Given the description of an element on the screen output the (x, y) to click on. 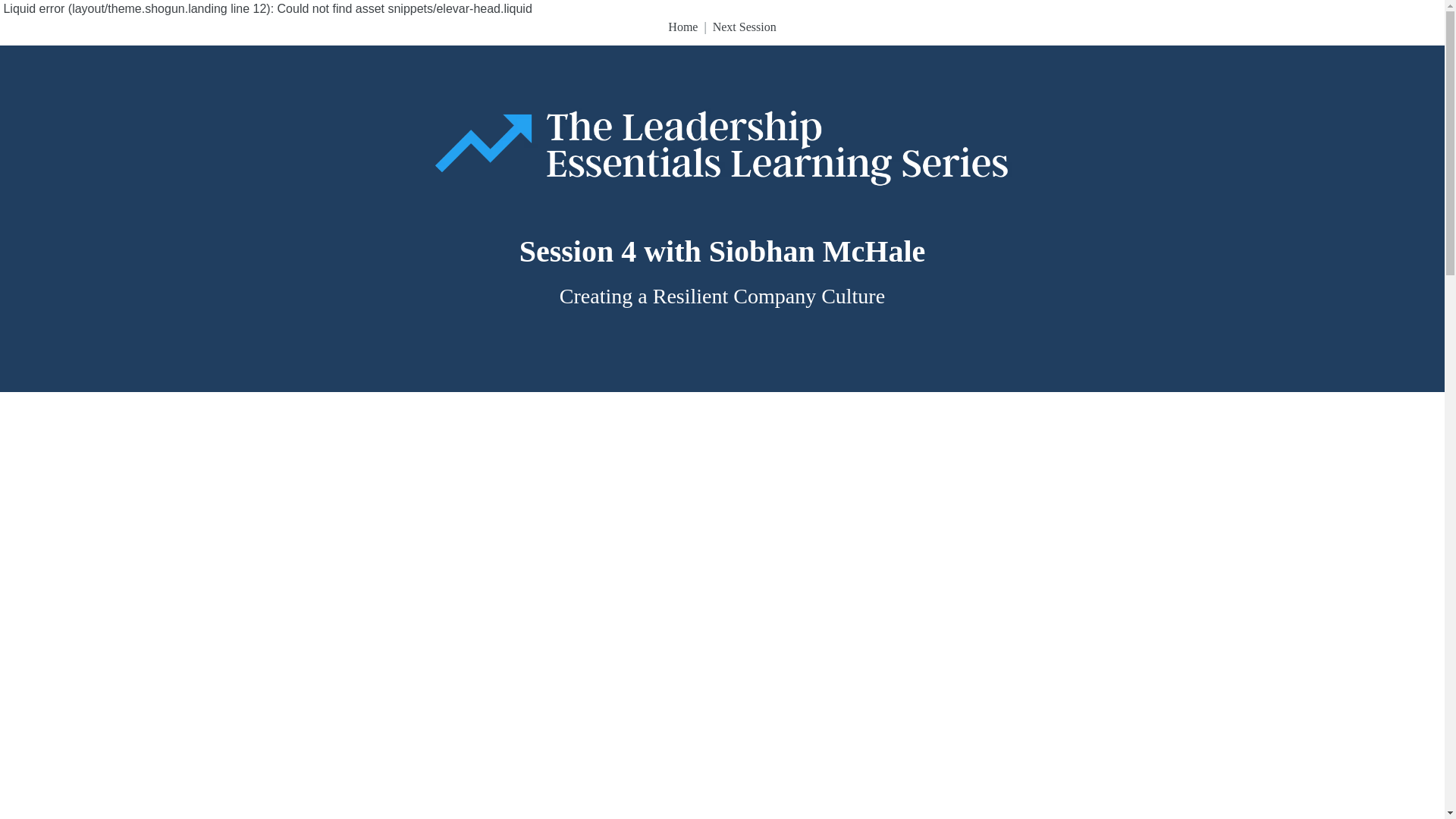
Home (682, 26)
Next session (744, 26)
Next Session (744, 26)
Home (682, 26)
